Given the description of an element on the screen output the (x, y) to click on. 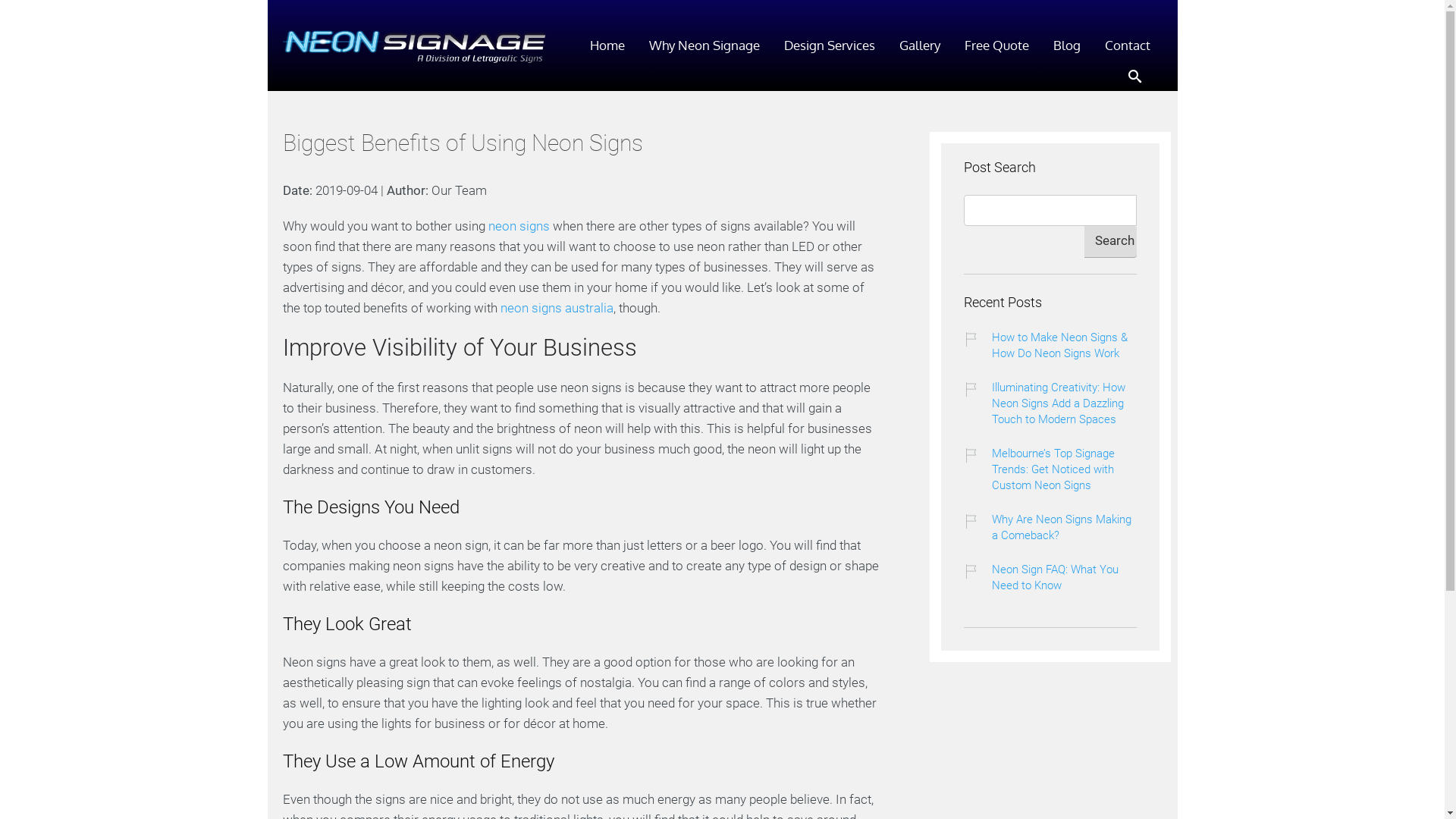
Neon Sign FAQ: What You Need to Know Element type: text (1063, 577)
How to Make Neon Signs & How Do Neon Signs Work Element type: text (1063, 345)
Gallery Element type: text (919, 45)
Home Element type: text (607, 45)
Free Quote Element type: text (996, 45)
Neon Signage Element type: hover (414, 46)
Why Neon Signage Element type: text (704, 45)
Blog Element type: text (1066, 45)
Contact Element type: text (1126, 45)
Search Element type: text (1109, 241)
Design Services Element type: text (829, 45)
Search Element type: text (13, 15)
neon signs australia Element type: text (556, 307)
Why Are Neon Signs Making a Comeback? Element type: text (1063, 527)
neon signs Element type: text (518, 225)
